Given the description of an element on the screen output the (x, y) to click on. 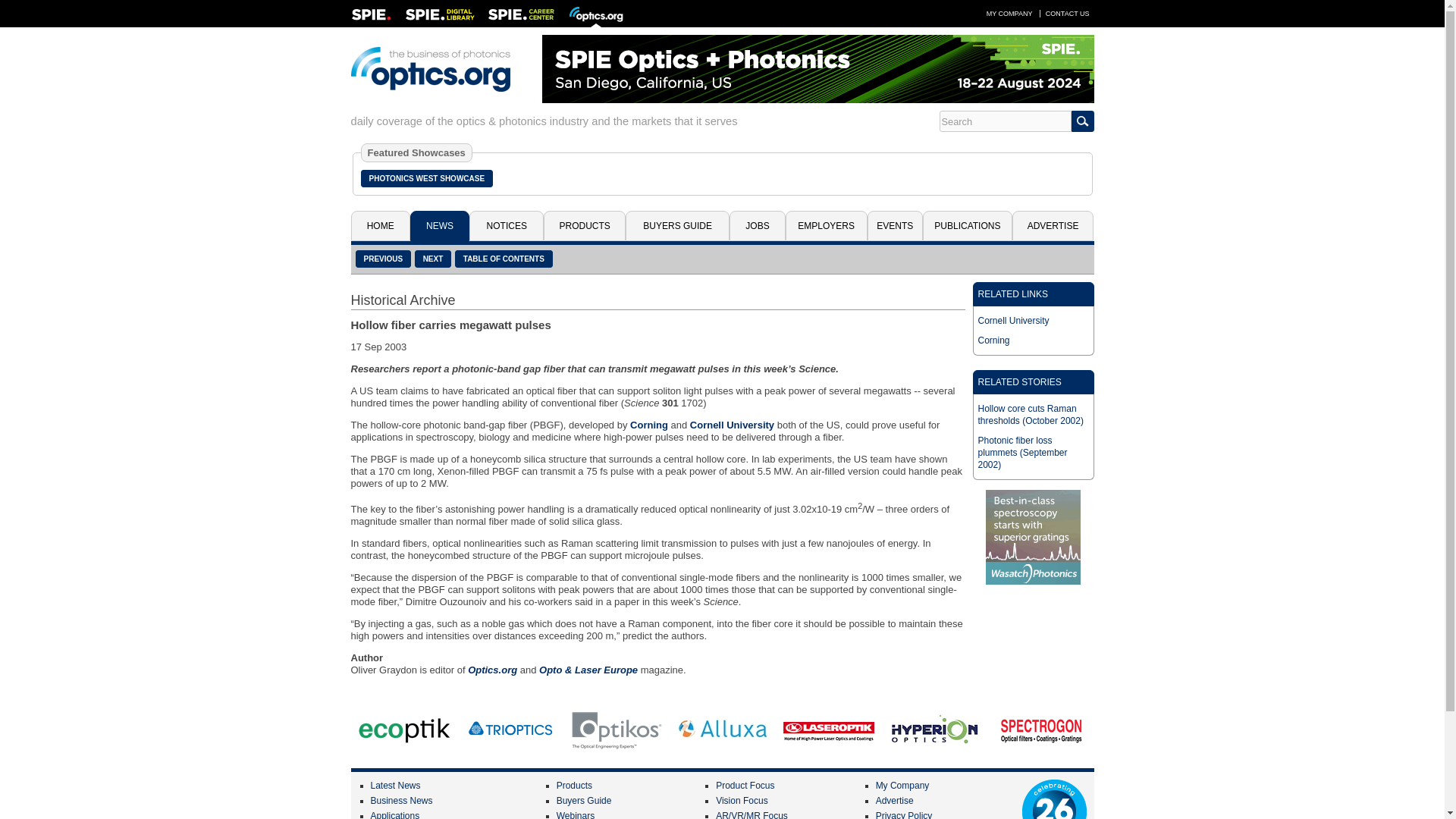
MY COMPANY (1008, 13)
NOTICES (505, 225)
Search (1004, 120)
HOME (379, 225)
CONTACT US (1067, 13)
PRODUCTS (584, 225)
NEWS (439, 225)
JOBS (757, 225)
PHOTONICS WEST SHOWCASE (427, 178)
BUYERS GUIDE (677, 225)
